Given the description of an element on the screen output the (x, y) to click on. 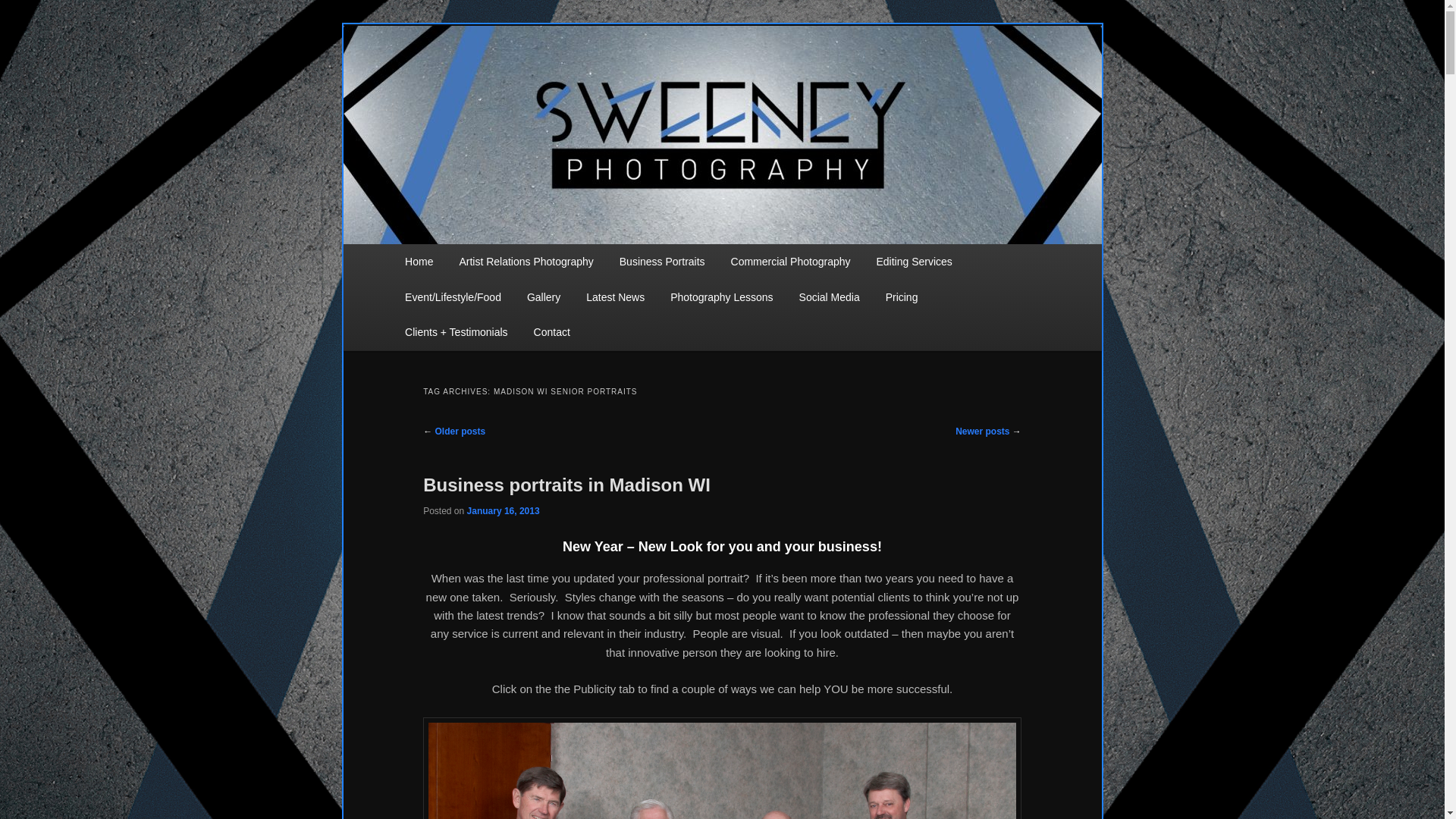
January 16, 2013 (503, 511)
Commercial Photography (790, 262)
Sweeney Photography (522, 112)
Artist Relations Photography (525, 262)
Pricing (901, 297)
Sweeney Photography (522, 112)
Photography Lessons (722, 297)
Photographer in Madison WI (722, 768)
Social Media (829, 297)
Contact (552, 332)
Business portraits in Madison WI (566, 485)
Editing Services (913, 262)
Business Portraits (662, 262)
